Given the description of an element on the screen output the (x, y) to click on. 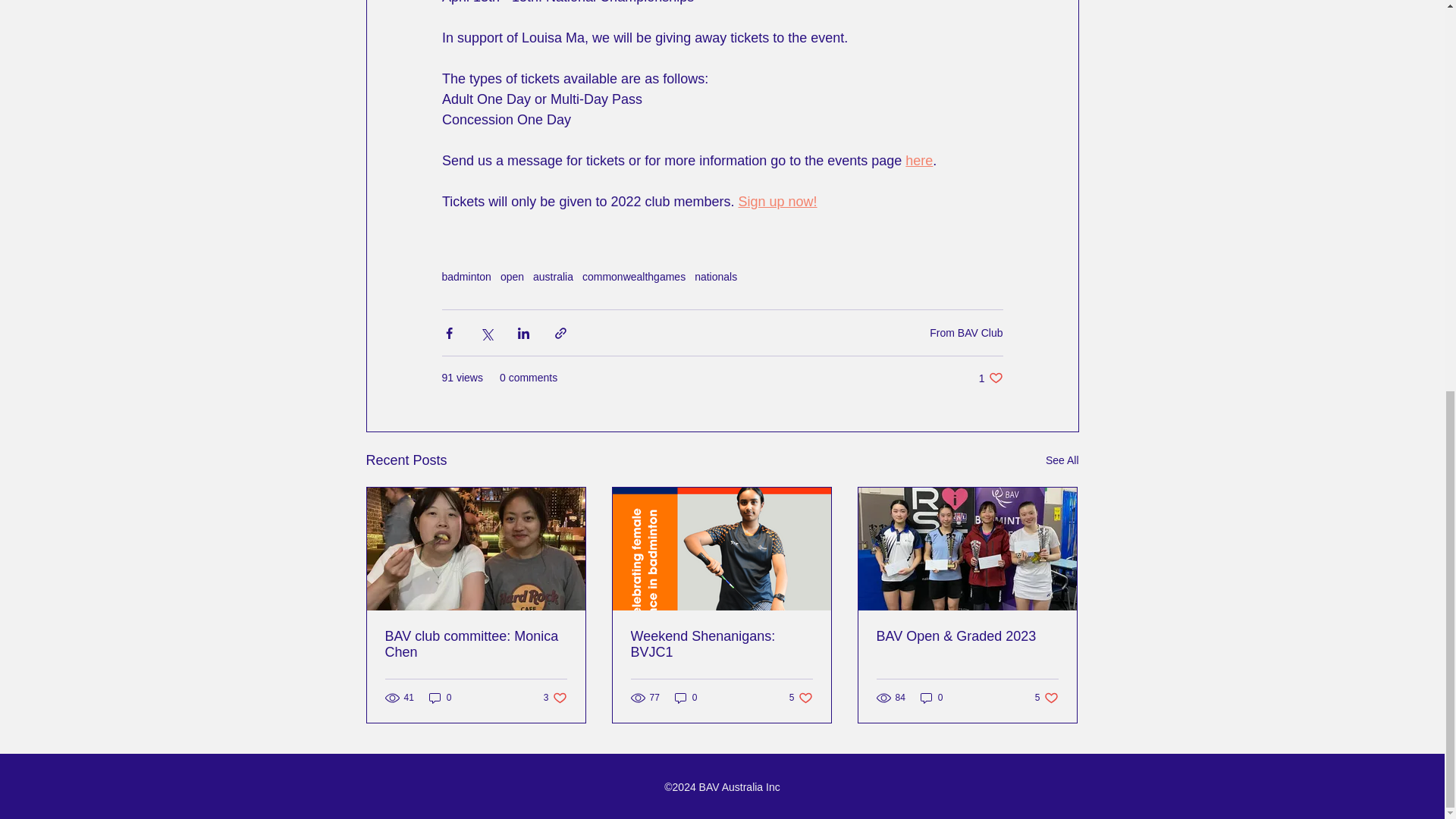
0 (800, 698)
here (685, 698)
See All (919, 160)
0 (1061, 460)
From BAV Club (990, 377)
BAV club committee: Monica Chen (440, 698)
0 (966, 332)
Weekend Shenanigans: BVJC1 (476, 644)
Sign up now! (931, 698)
nationals (721, 644)
australia (555, 698)
badminton (777, 201)
